Given the description of an element on the screen output the (x, y) to click on. 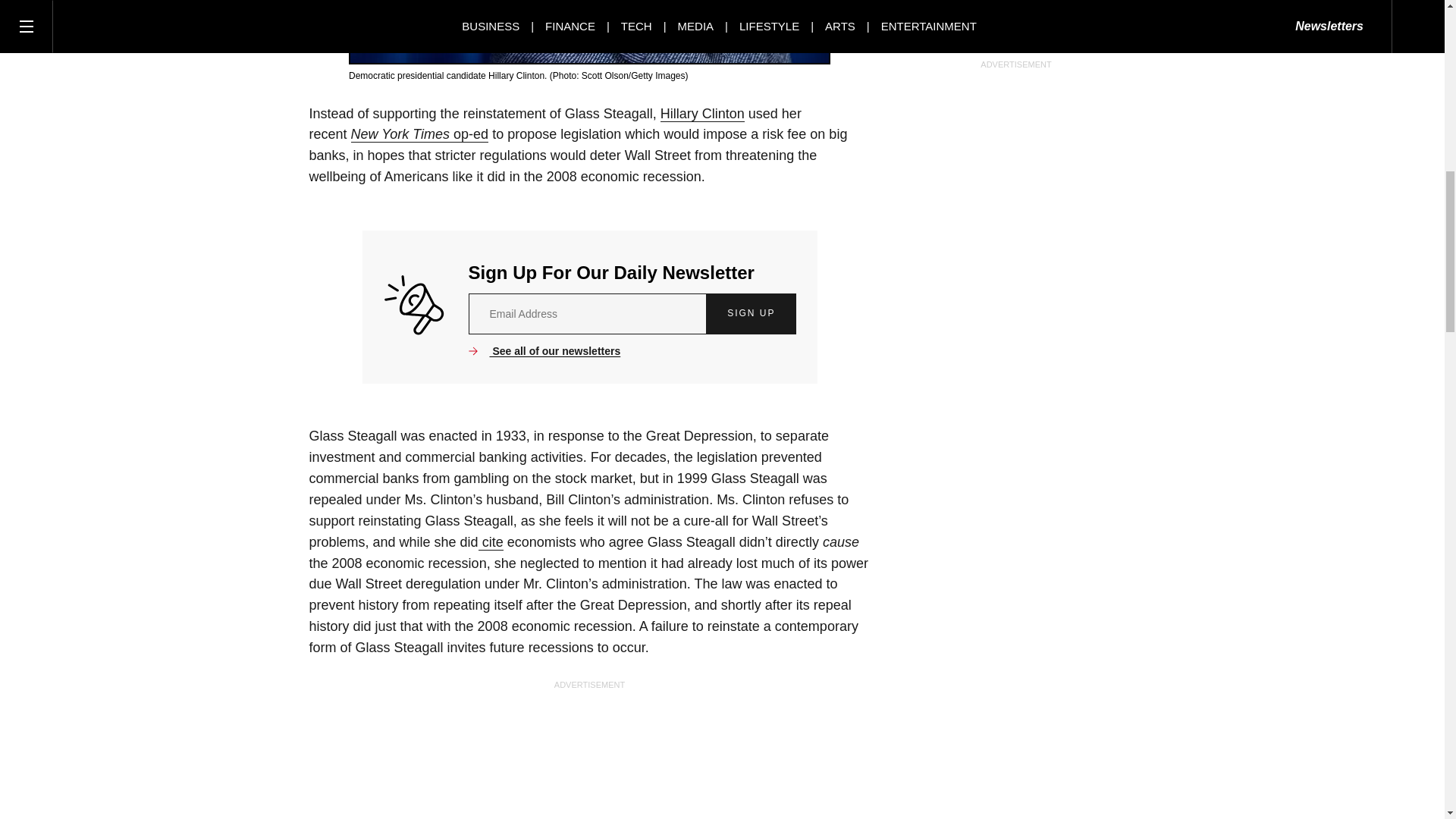
Hillary Clinton (702, 114)
